Given the description of an element on the screen output the (x, y) to click on. 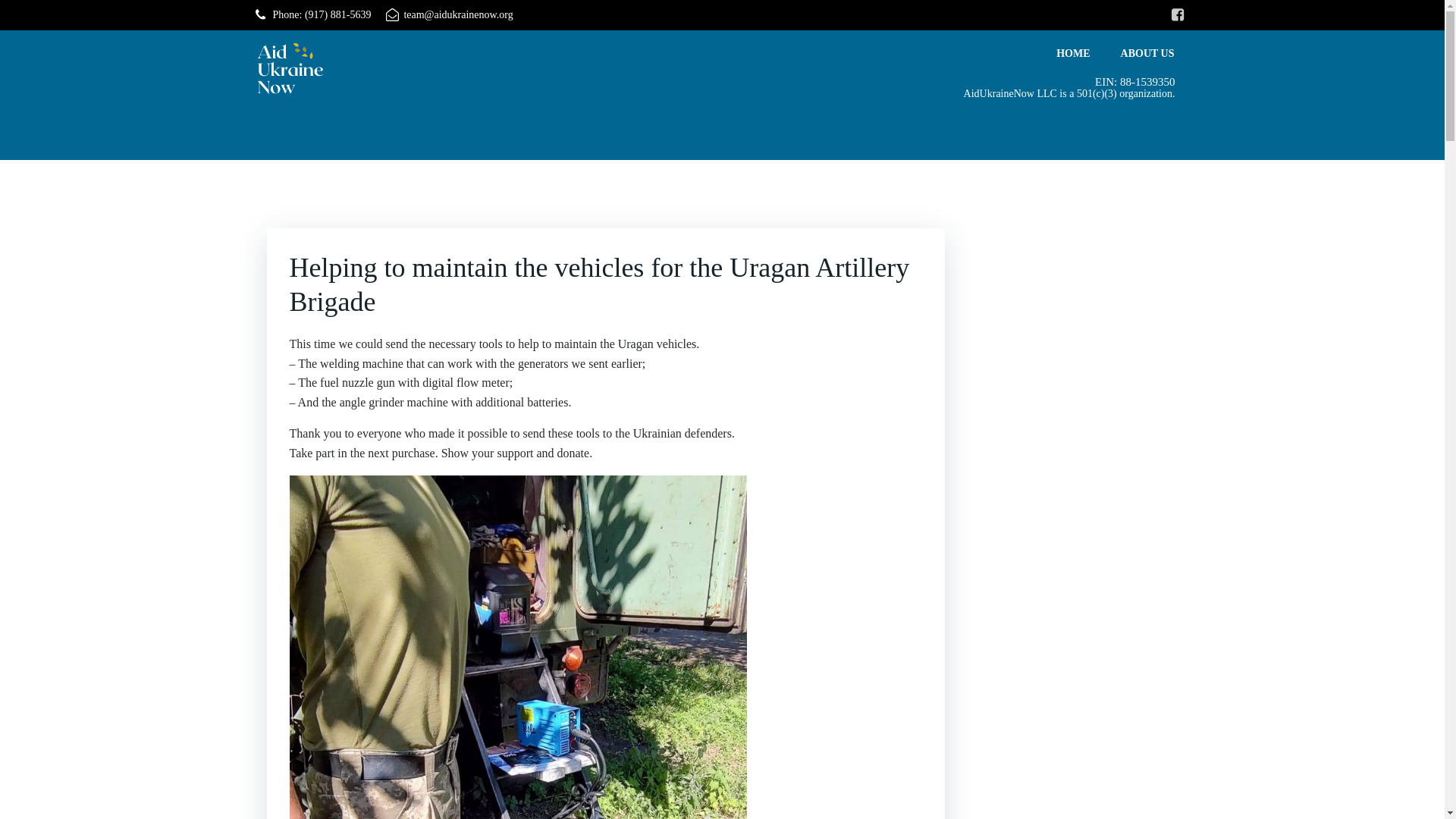
HOME (1073, 53)
ABOUT US (1147, 53)
